Given the description of an element on the screen output the (x, y) to click on. 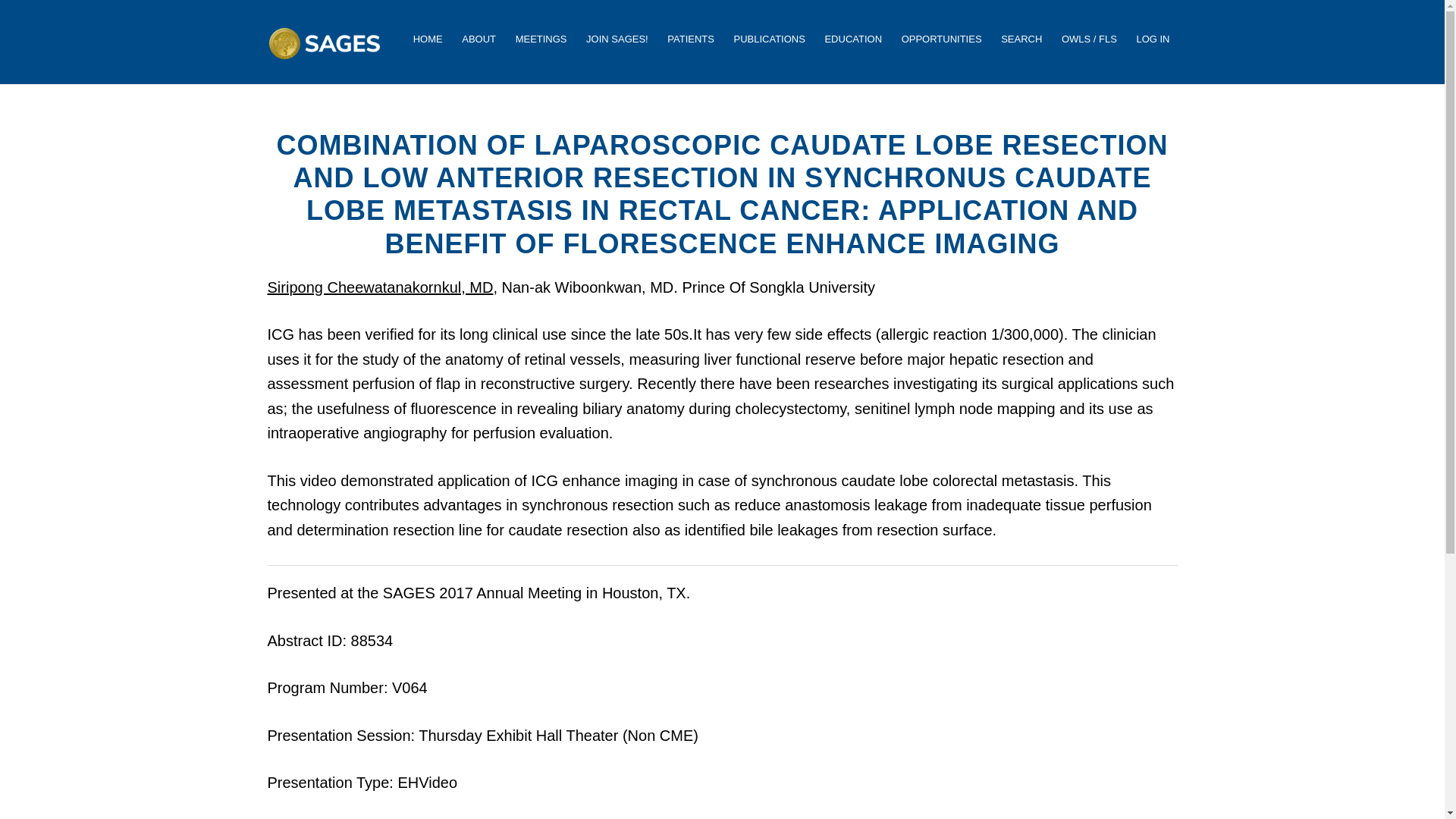
ABOUT (478, 39)
HOME (427, 39)
SAGES (323, 55)
About SAGES (478, 39)
